Given the description of an element on the screen output the (x, y) to click on. 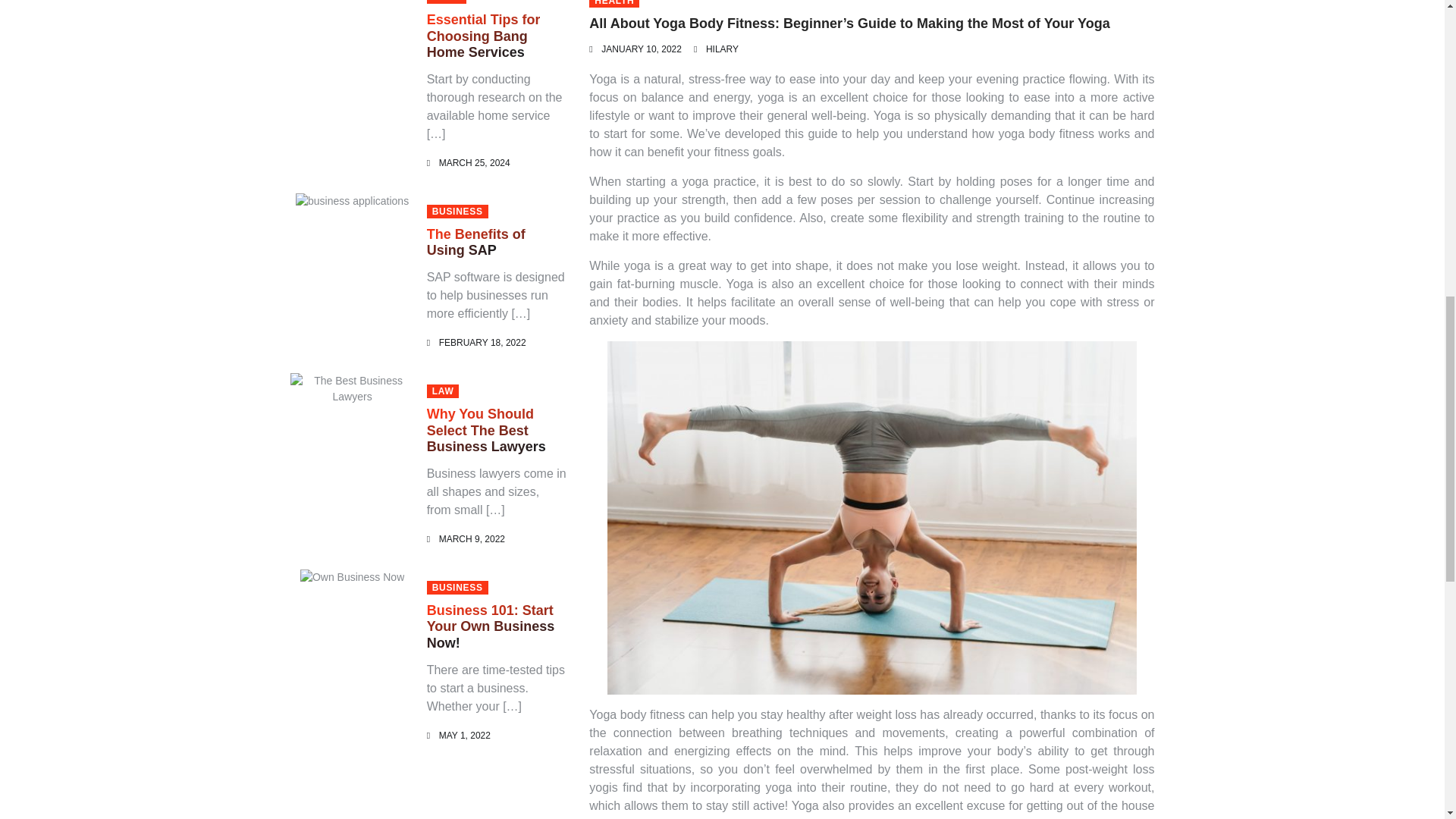
HEALTH (614, 3)
FEBRUARY 18, 2022 (482, 342)
LAW (443, 391)
MARCH 9, 2022 (472, 538)
Why You Should Select The Best Business Lawyers (486, 430)
MAY 1, 2022 (464, 735)
JANUARY 10, 2022 (641, 49)
BUSINESS (456, 211)
Essential Tips for Choosing Bang Home Services (483, 35)
The Benefits of Using SAP (475, 242)
